Given the description of an element on the screen output the (x, y) to click on. 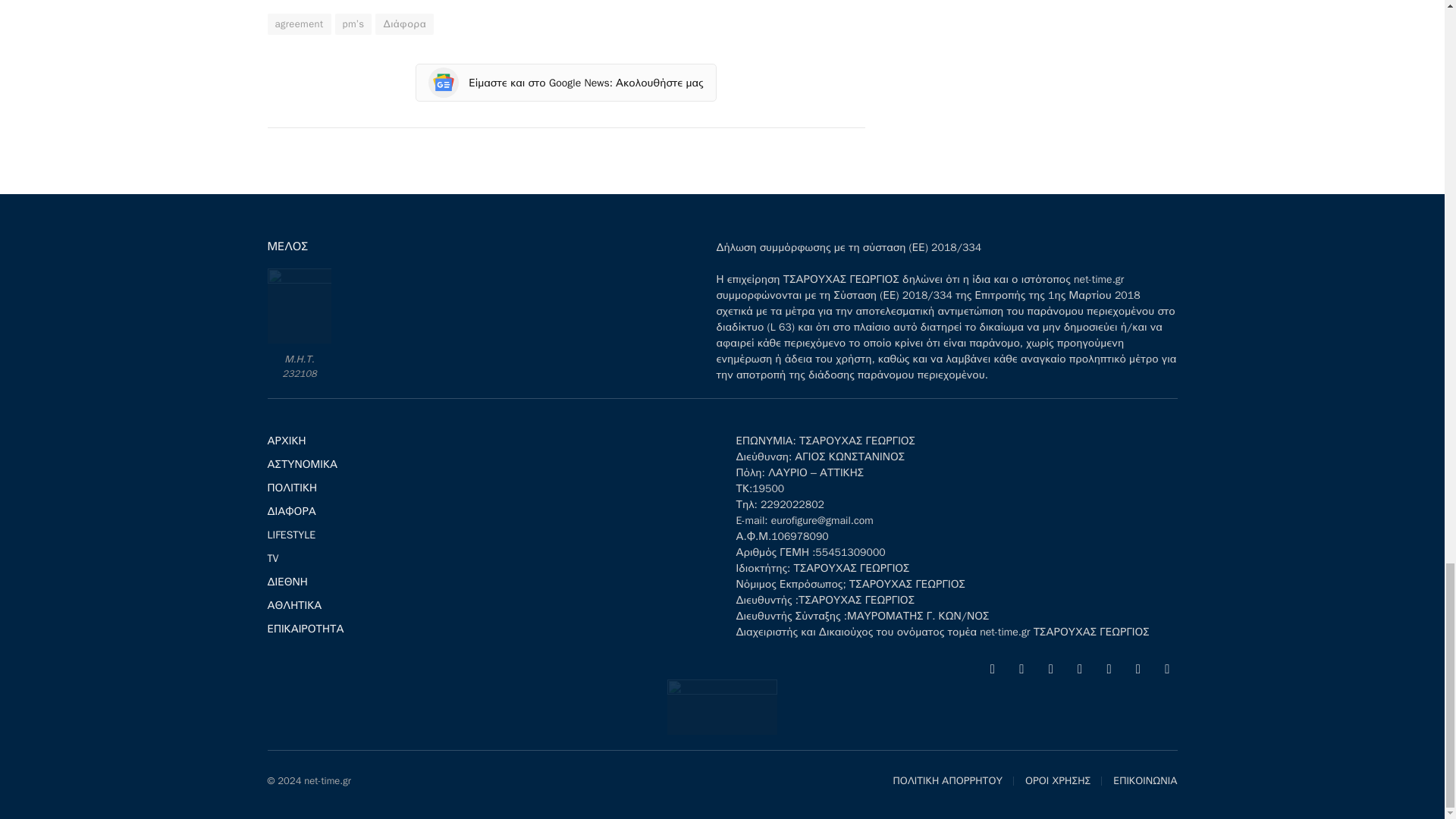
agreement (298, 24)
